Given the description of an element on the screen output the (x, y) to click on. 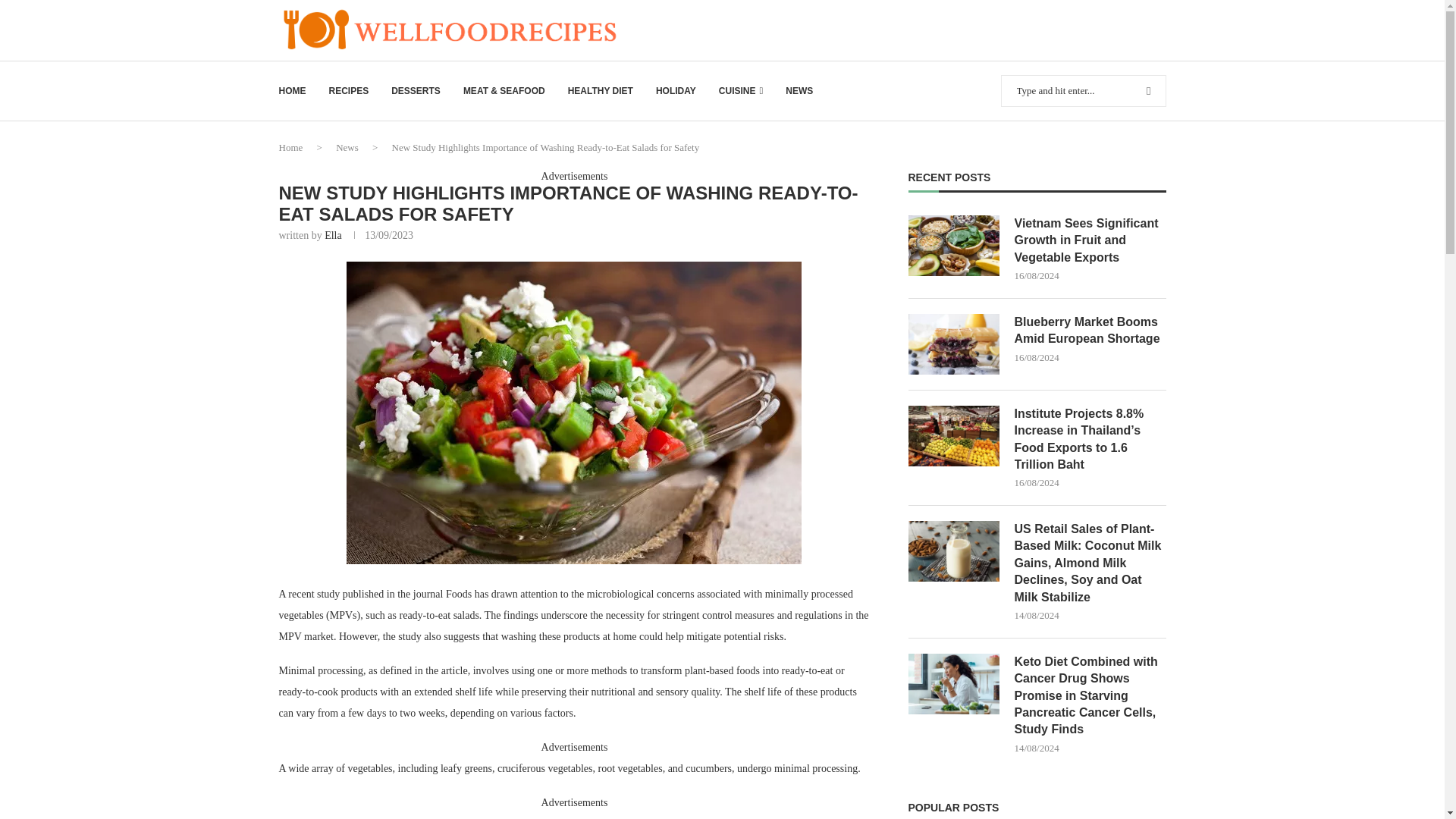
HOLIDAY (675, 90)
DESSERTS (416, 90)
RECIPES (349, 90)
CUISINE (740, 90)
HEALTHY DIET (600, 90)
Blueberry Market Booms Amid European Shortage (953, 343)
Blueberry Market Booms Amid European Shortage (1090, 330)
